Given the description of an element on the screen output the (x, y) to click on. 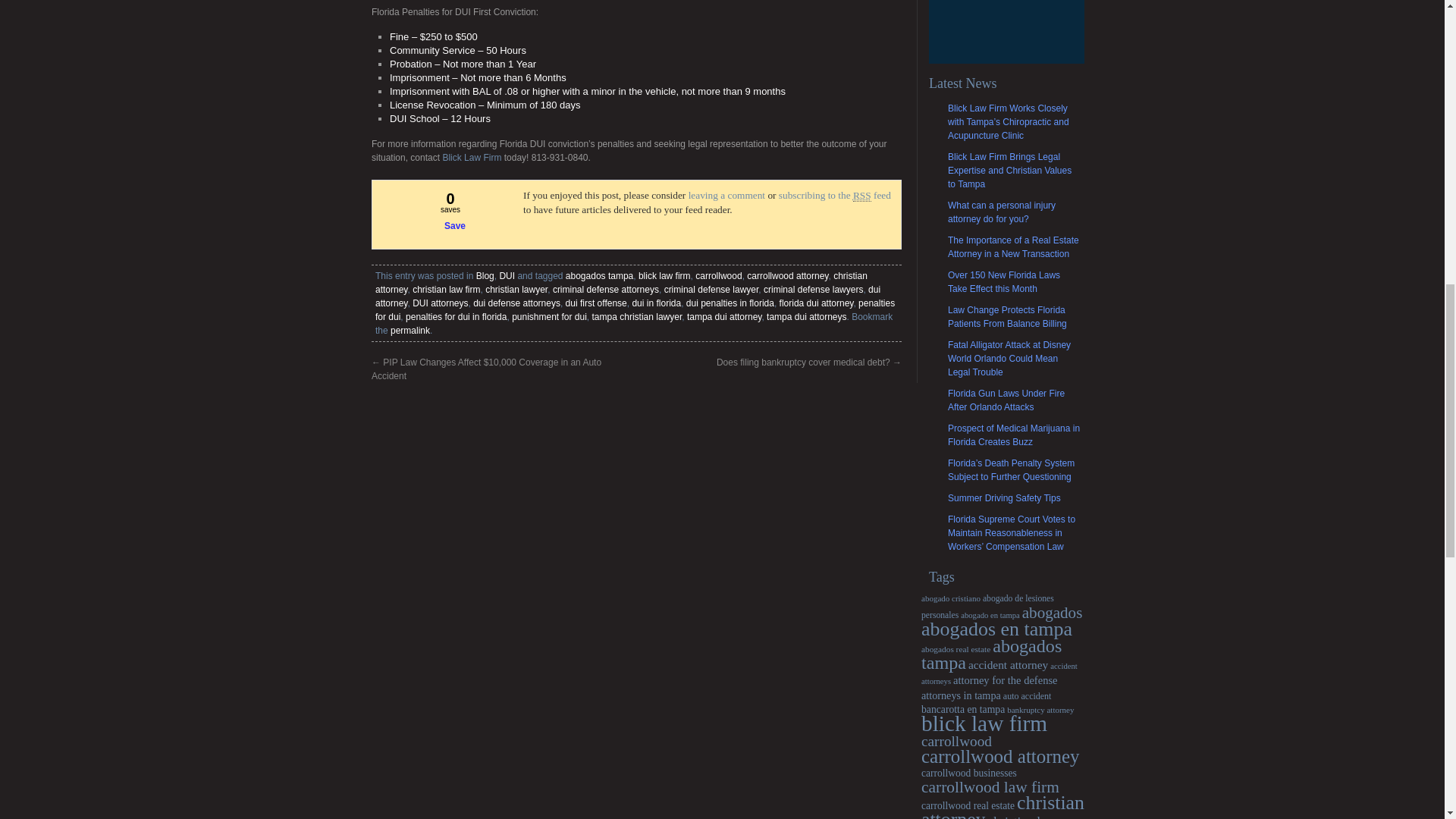
View all posts in Blog (485, 276)
Permalink to DUI conviction remains on your record for life! (409, 330)
19 topics (950, 597)
View all posts in DUI (507, 276)
Syndicate this site using RSS (834, 195)
Really Simple Syndication (861, 195)
